Given the description of an element on the screen output the (x, y) to click on. 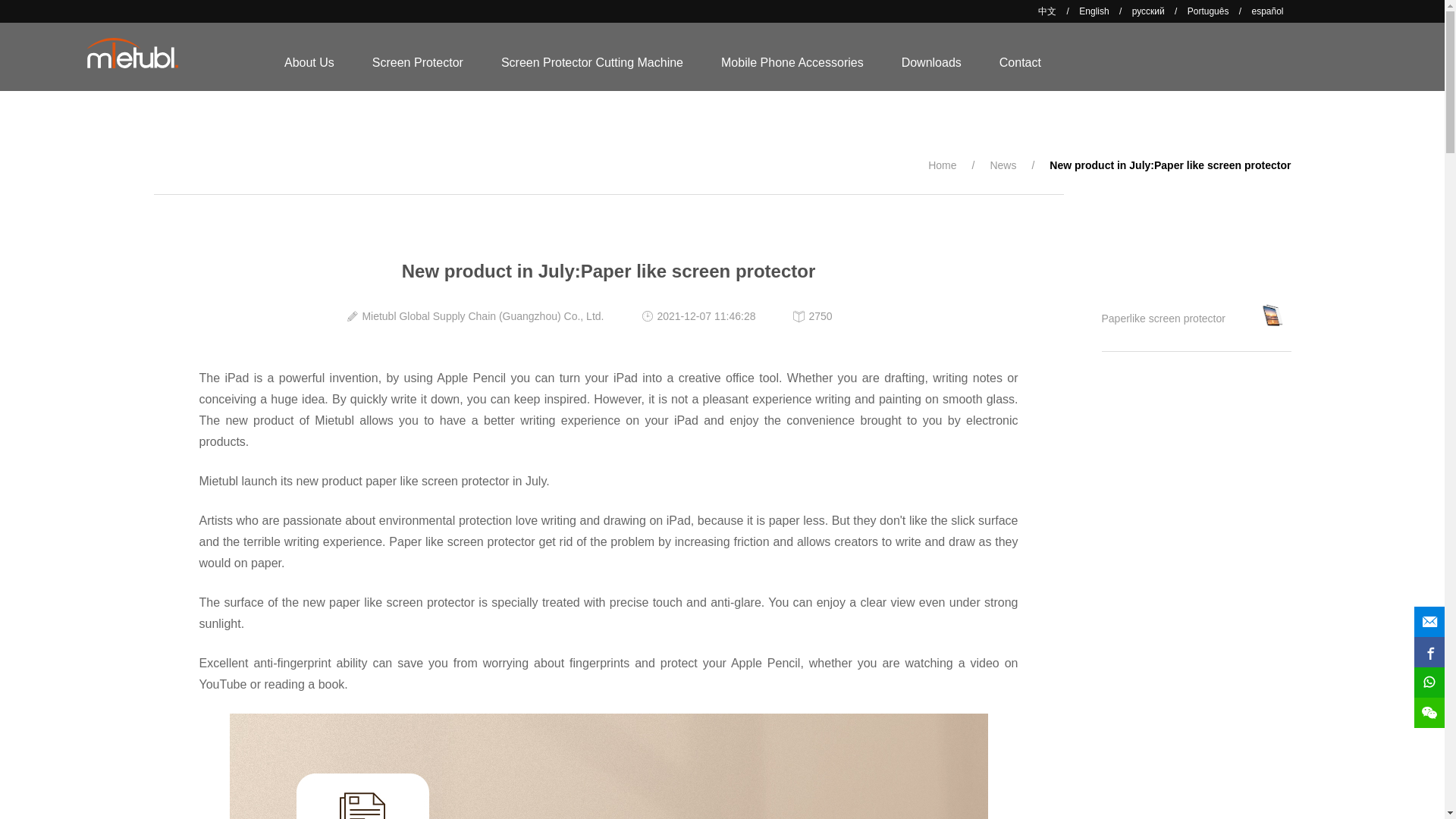
Mietubl webSite (1093, 10)
Mietubl Spanish webSite (1266, 10)
Mietubl Chinese webSite (1047, 10)
About us (308, 62)
Screen Protector Cutting Machine (591, 62)
Screen Protector (417, 62)
English (1093, 10)
Mietubl Russia webSite (1148, 10)
About Us (308, 62)
Mietubl Portuguese webSite (1208, 10)
